Given the description of an element on the screen output the (x, y) to click on. 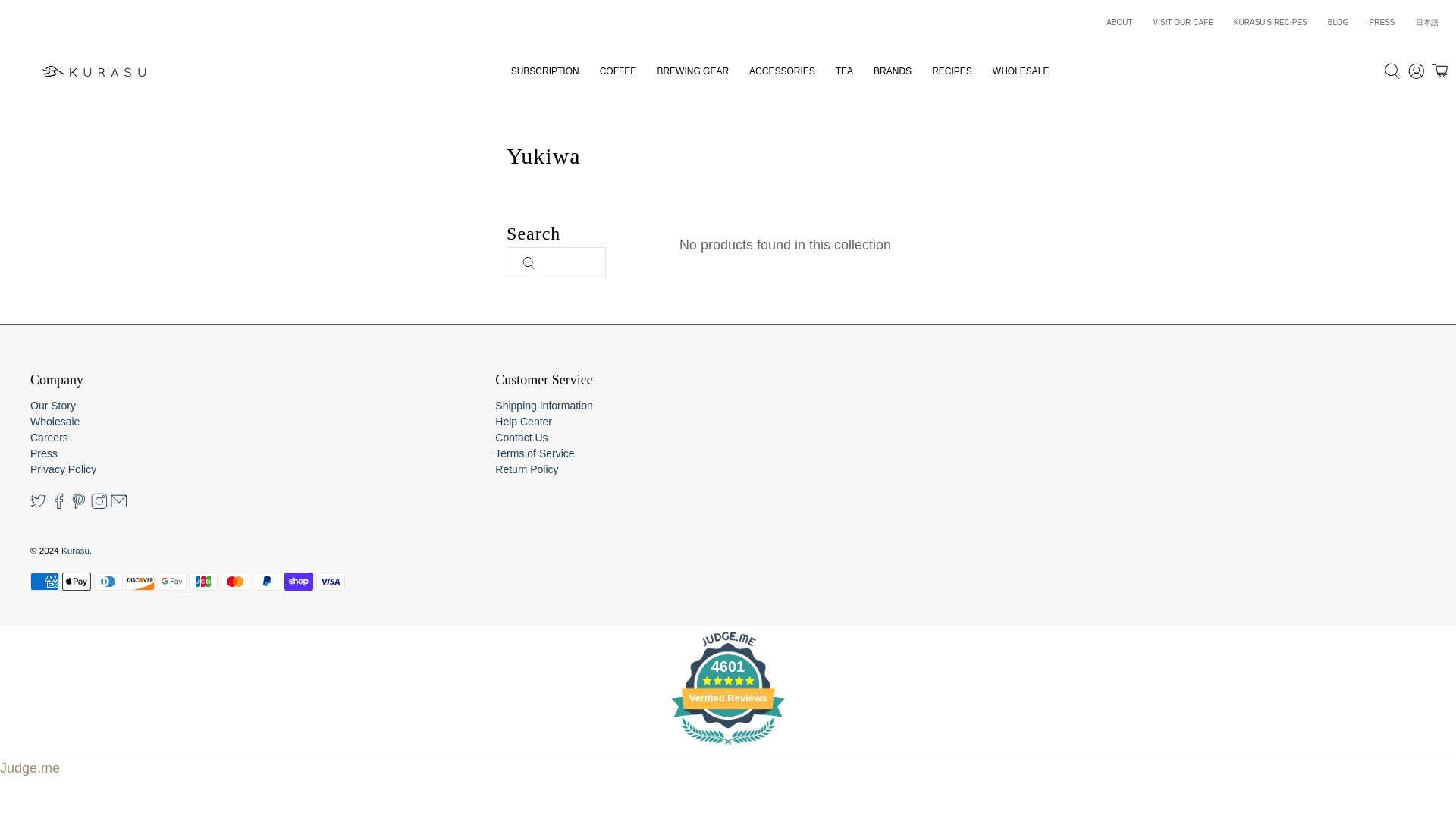
PayPal (266, 581)
Kurasu on Pinterest (78, 504)
Visa (330, 581)
American Express (44, 581)
KURASU'S RECIPES (1270, 22)
RECIPES (951, 69)
ABOUT (1119, 22)
ACCESSORIES (782, 69)
Mastercard (234, 581)
Kurasu on Facebook (58, 504)
Google Pay (171, 581)
Shop Pay (298, 581)
BLOG (1337, 22)
PRESS (1381, 22)
SUBSCRIPTION (544, 69)
